Given the description of an element on the screen output the (x, y) to click on. 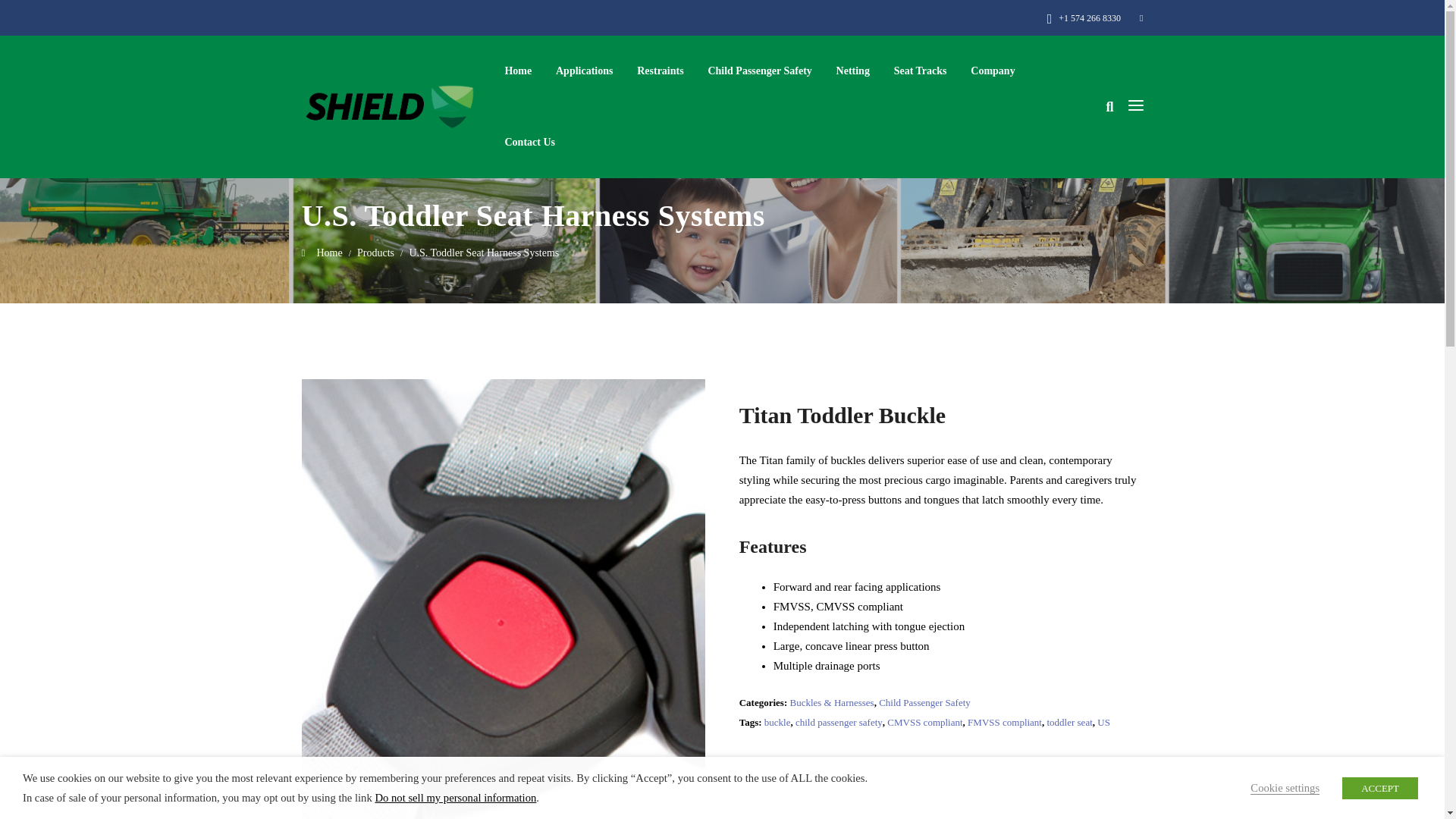
Child Passenger Safety (758, 71)
